Given the description of an element on the screen output the (x, y) to click on. 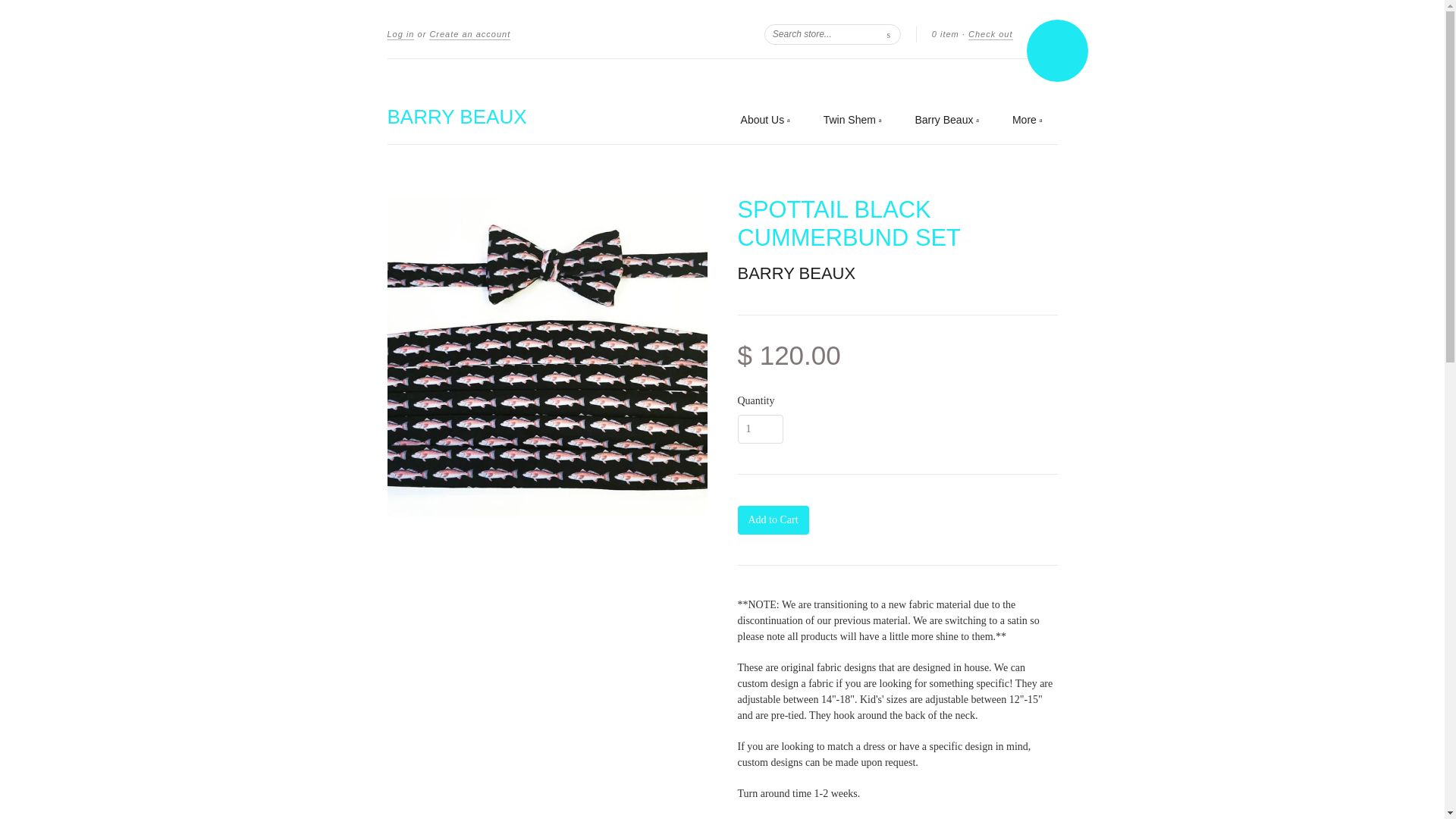
About Us (765, 120)
Add to Cart (772, 520)
Barry Beaux (946, 120)
More (1026, 120)
Create an account (470, 34)
BARRY BEAUX (456, 116)
Log in (400, 34)
Twin Shem (853, 120)
Search (888, 33)
BARRY BEAUX (796, 272)
Check out (990, 34)
0 item (945, 34)
1 (759, 428)
